Given the description of an element on the screen output the (x, y) to click on. 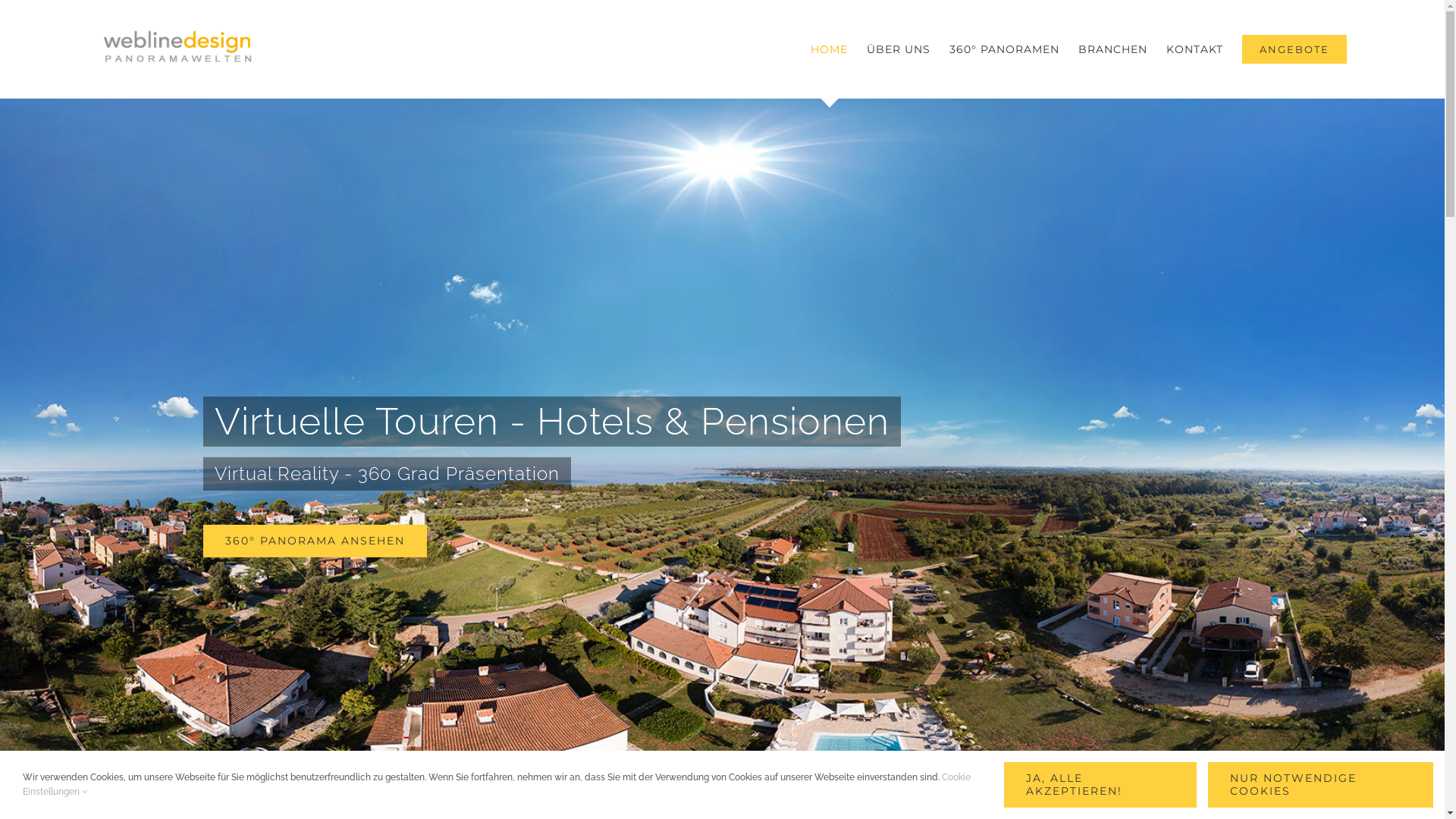
JA, ALLE AKZEPTIEREN! Element type: text (1100, 784)
Cookie Einstellungen Element type: text (496, 784)
HOME Element type: text (828, 49)
BRANCHEN Element type: text (1112, 49)
NUR NOTWENDIGE COOKIES Element type: text (1320, 784)
ANGEBOTE Element type: text (1294, 49)
KONTAKT Element type: text (1194, 49)
